Given the description of an element on the screen output the (x, y) to click on. 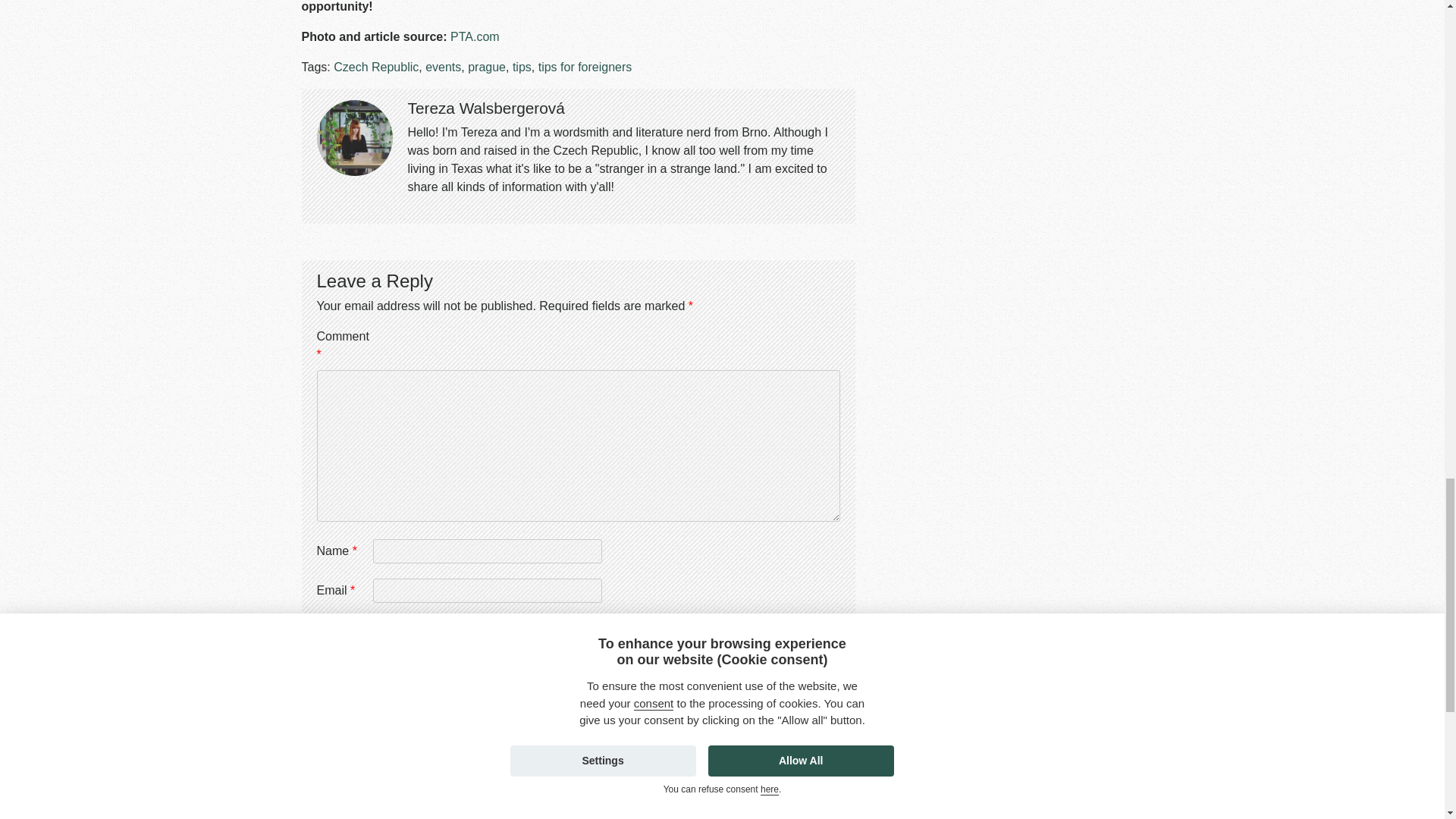
tips (521, 66)
PTA.com (474, 36)
prague (486, 66)
tips for foreigners (584, 66)
Czech Republic (376, 66)
Post Comment (377, 670)
events (443, 66)
Post Comment (377, 670)
